Given the description of an element on the screen output the (x, y) to click on. 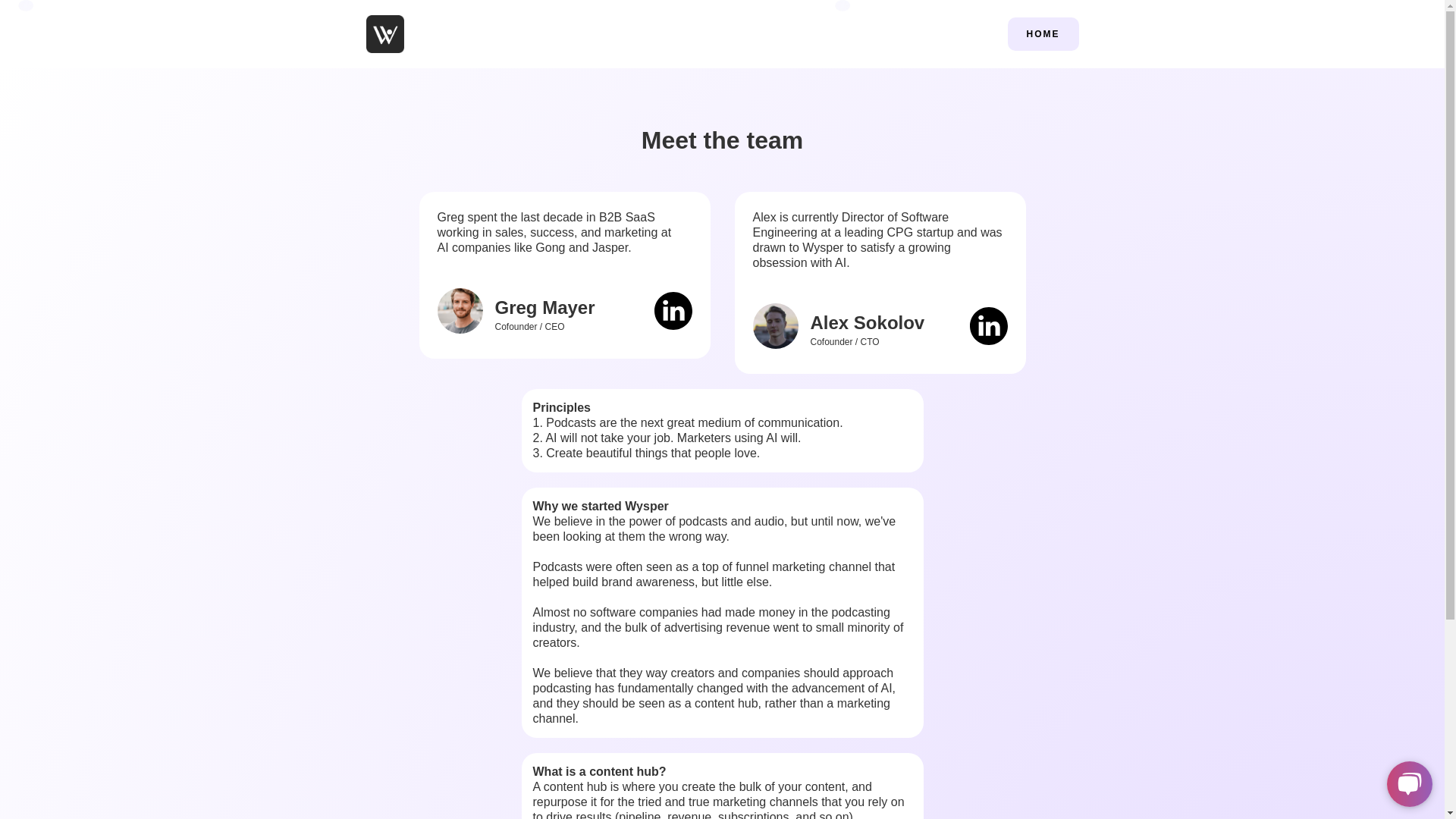
HOME (1042, 33)
